Given the description of an element on the screen output the (x, y) to click on. 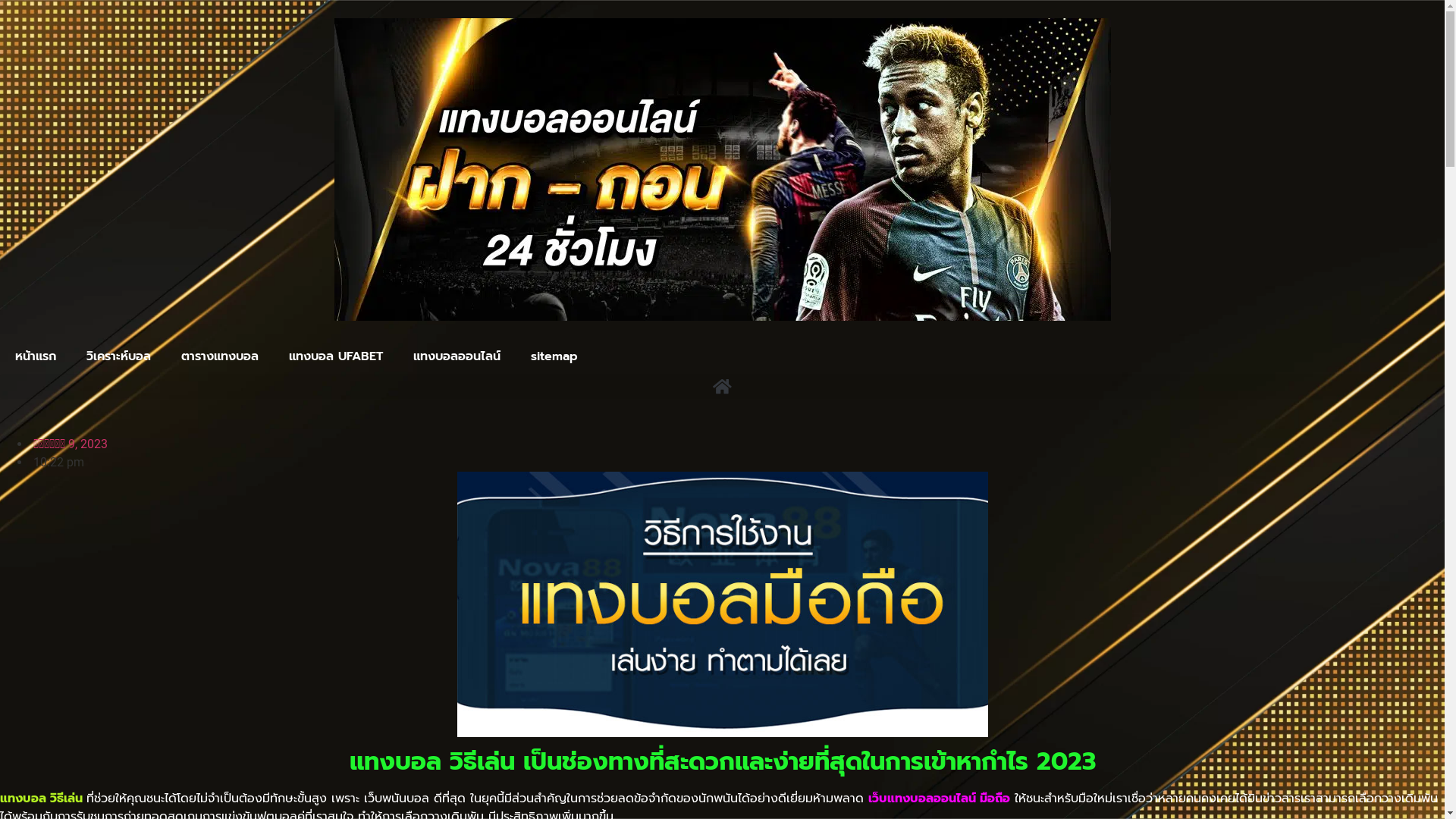
sitemap Element type: text (554, 355)
